Given the description of an element on the screen output the (x, y) to click on. 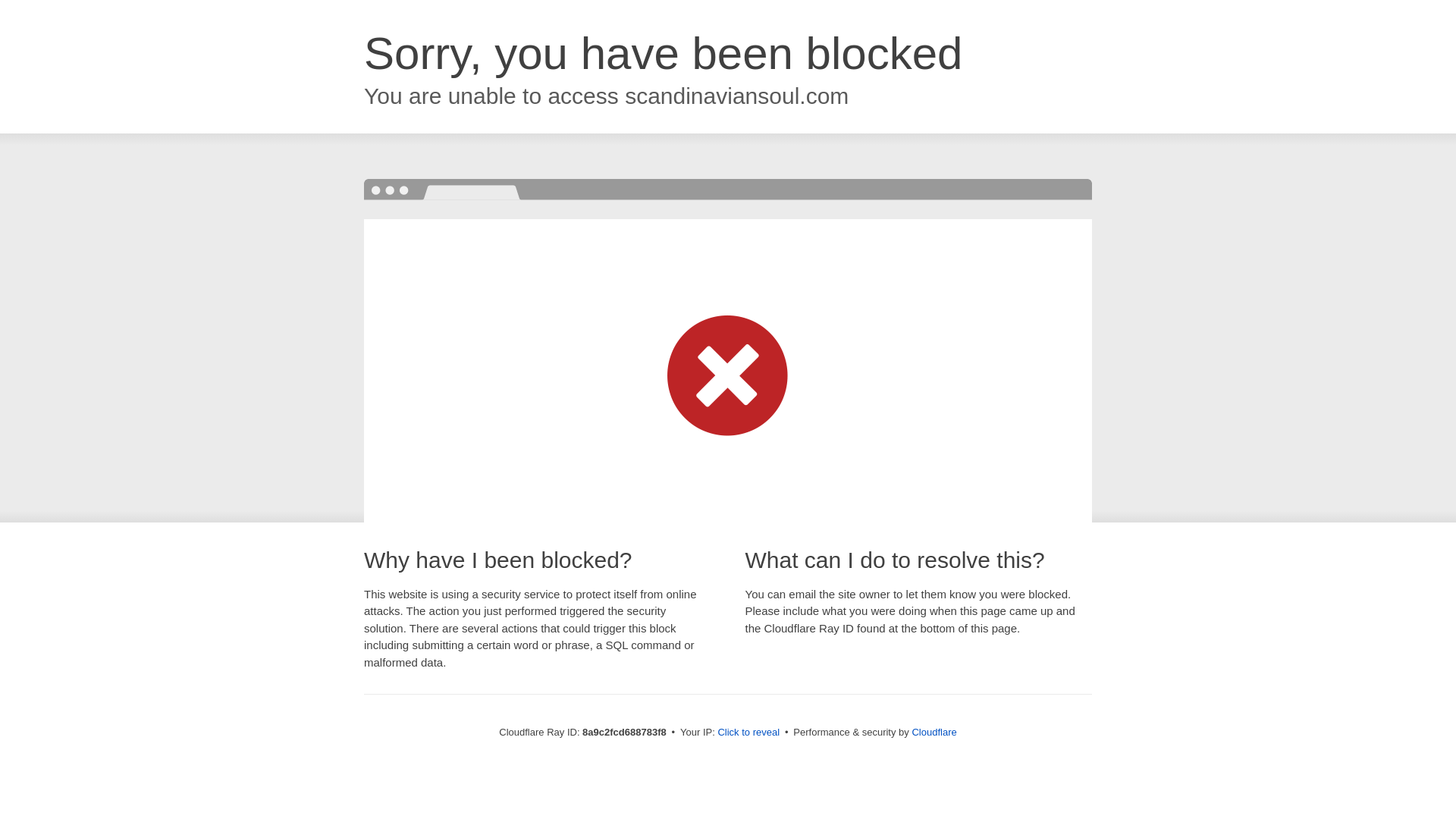
Click to reveal (747, 732)
Cloudflare (933, 731)
